Given the description of an element on the screen output the (x, y) to click on. 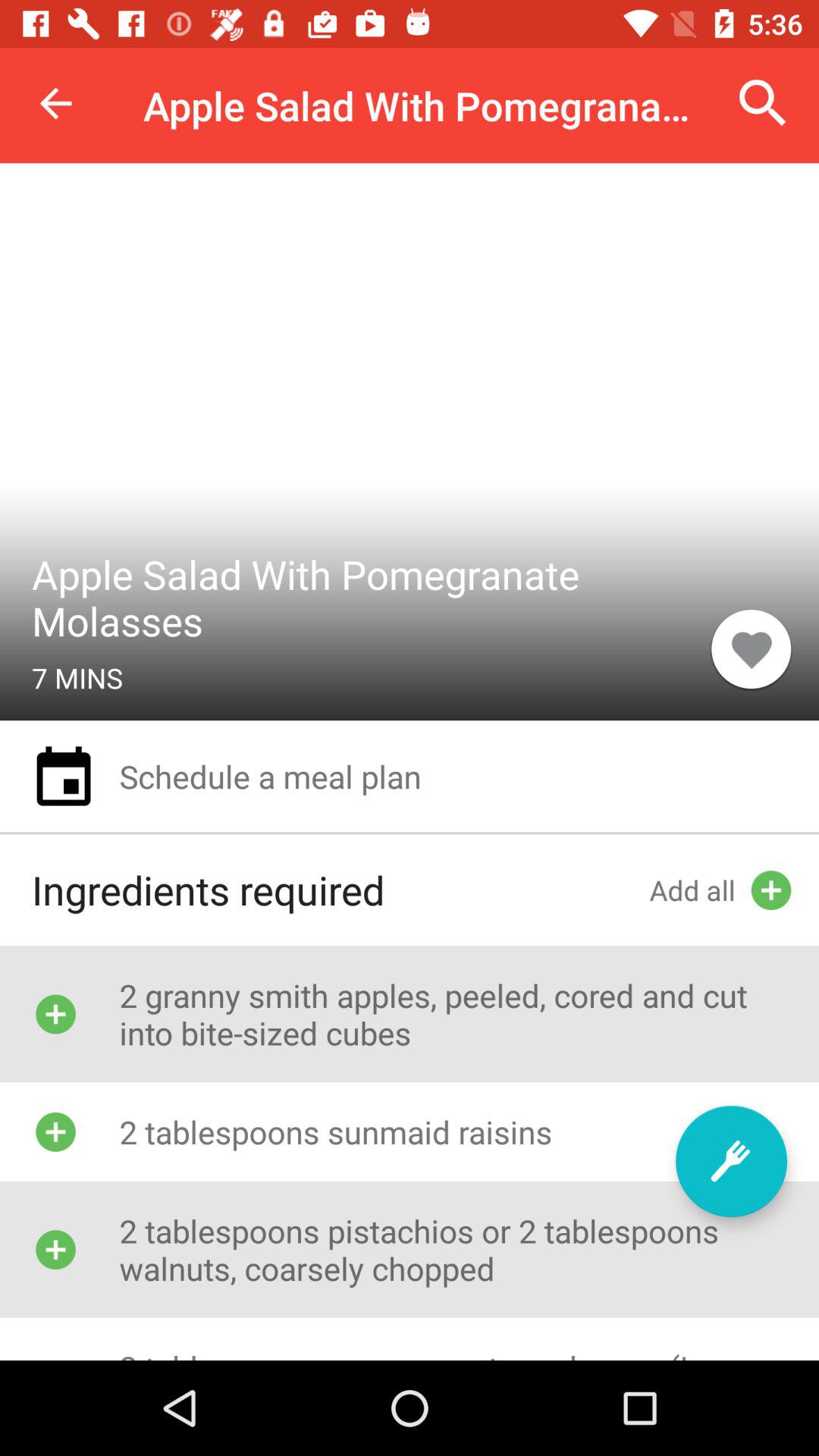
select the add icon which is beside the text 2 tablespoons sunmaid raisins (55, 1130)
